Given the description of an element on the screen output the (x, y) to click on. 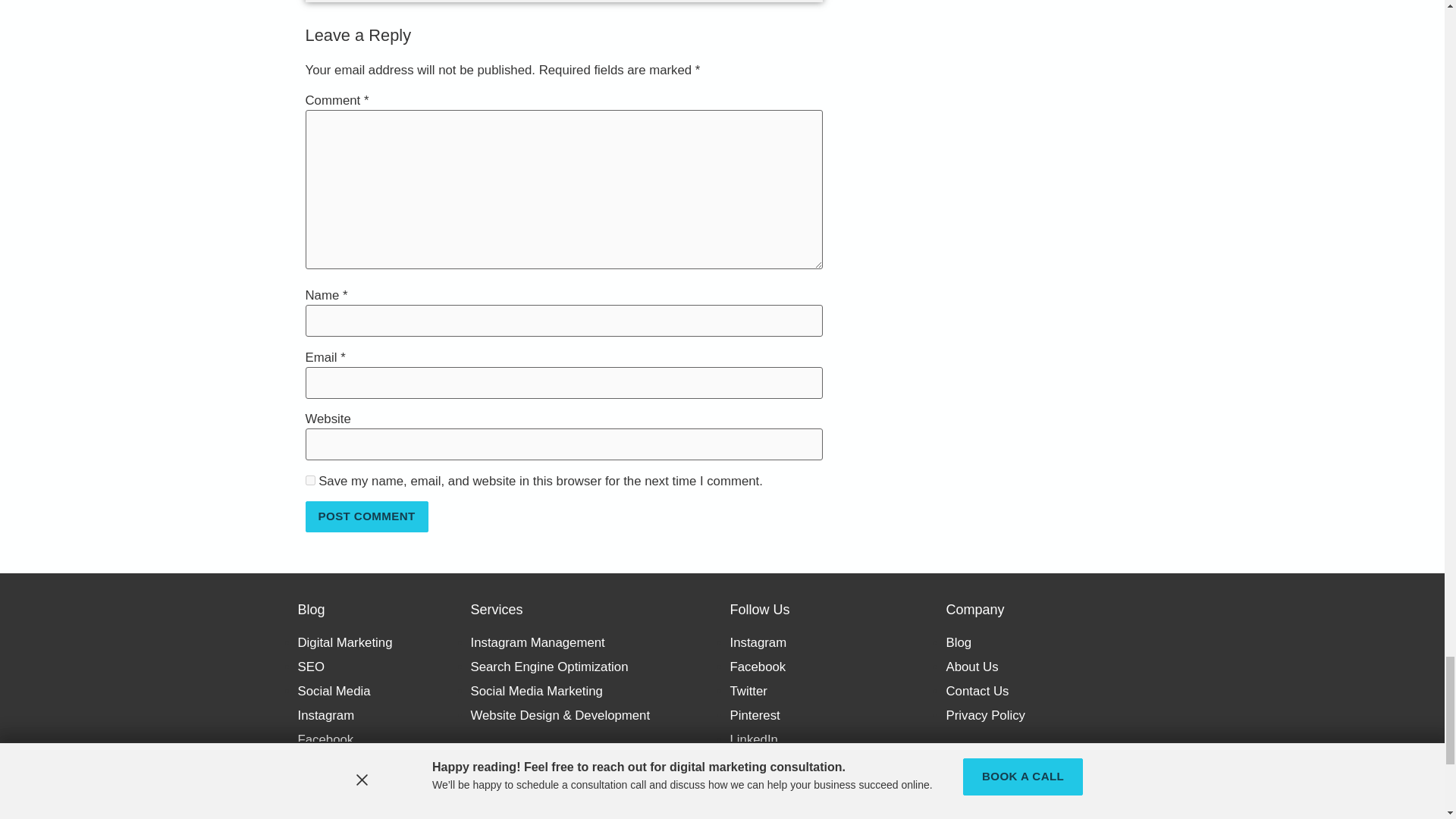
yes (309, 480)
Post Comment (366, 516)
